Given the description of an element on the screen output the (x, y) to click on. 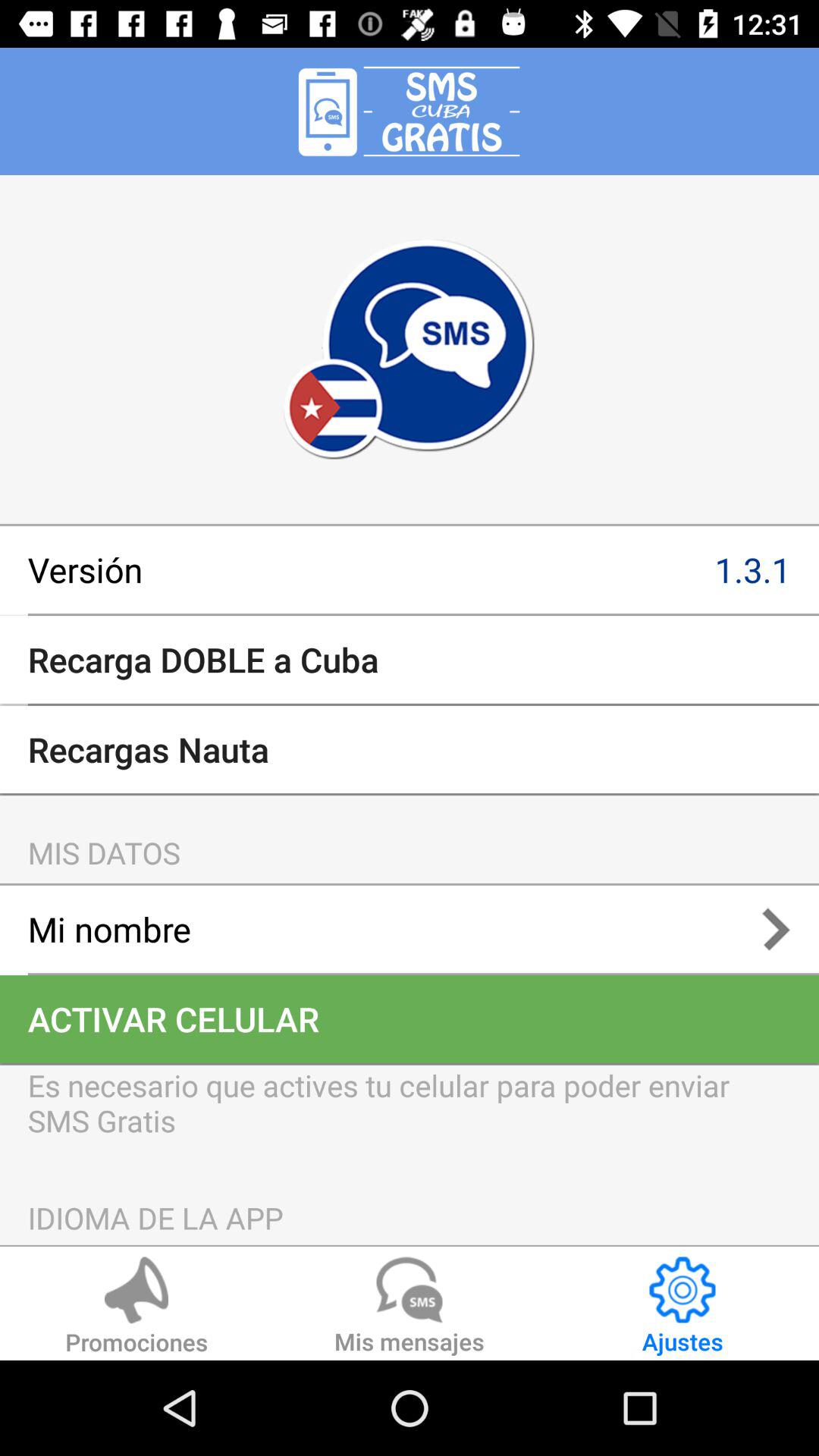
select item next to the mis mensajes (136, 1308)
